Given the description of an element on the screen output the (x, y) to click on. 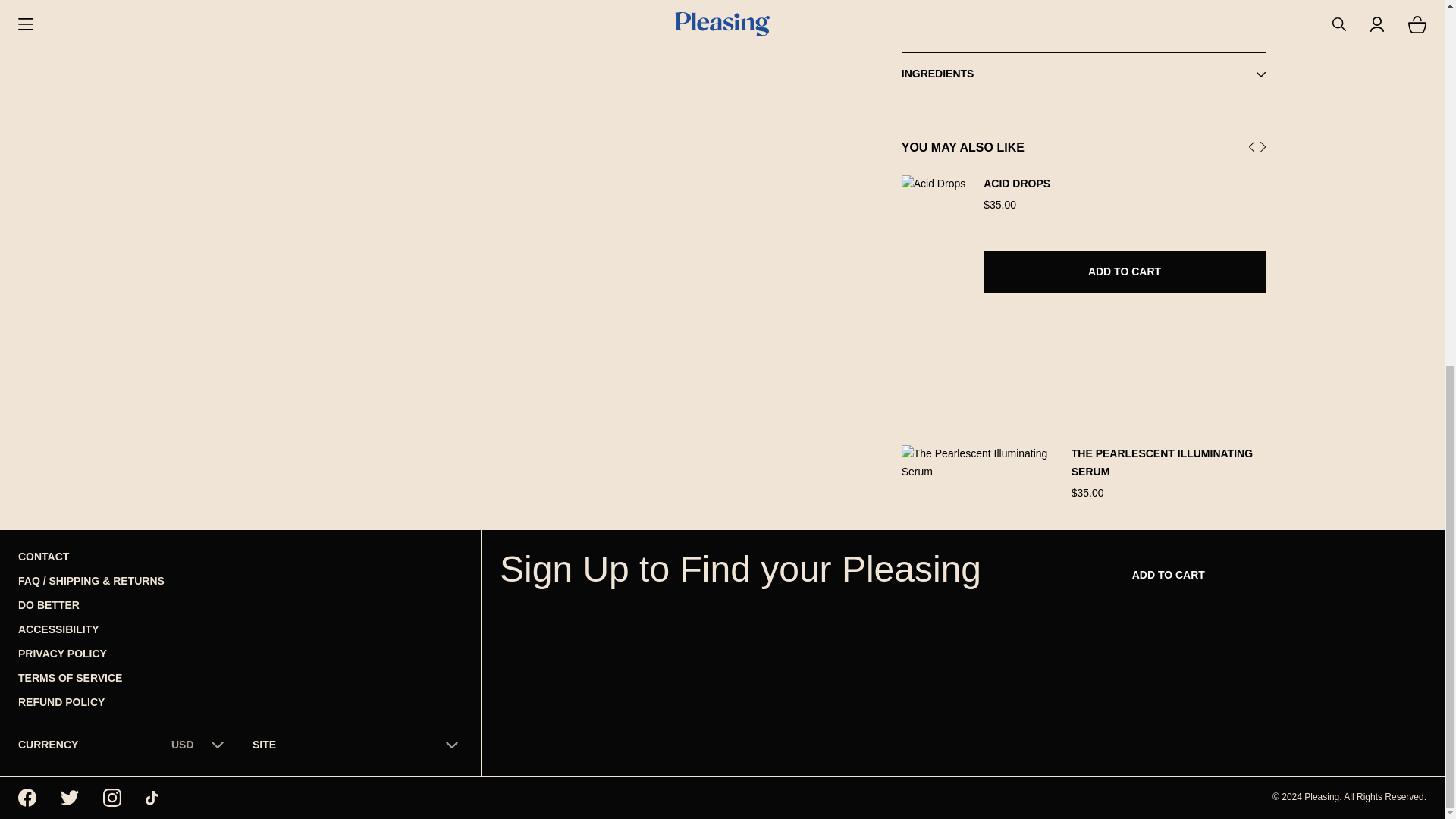
Facebook (26, 797)
CARET (1260, 13)
Twitter (69, 797)
Instagram (111, 797)
